Given the description of an element on the screen output the (x, y) to click on. 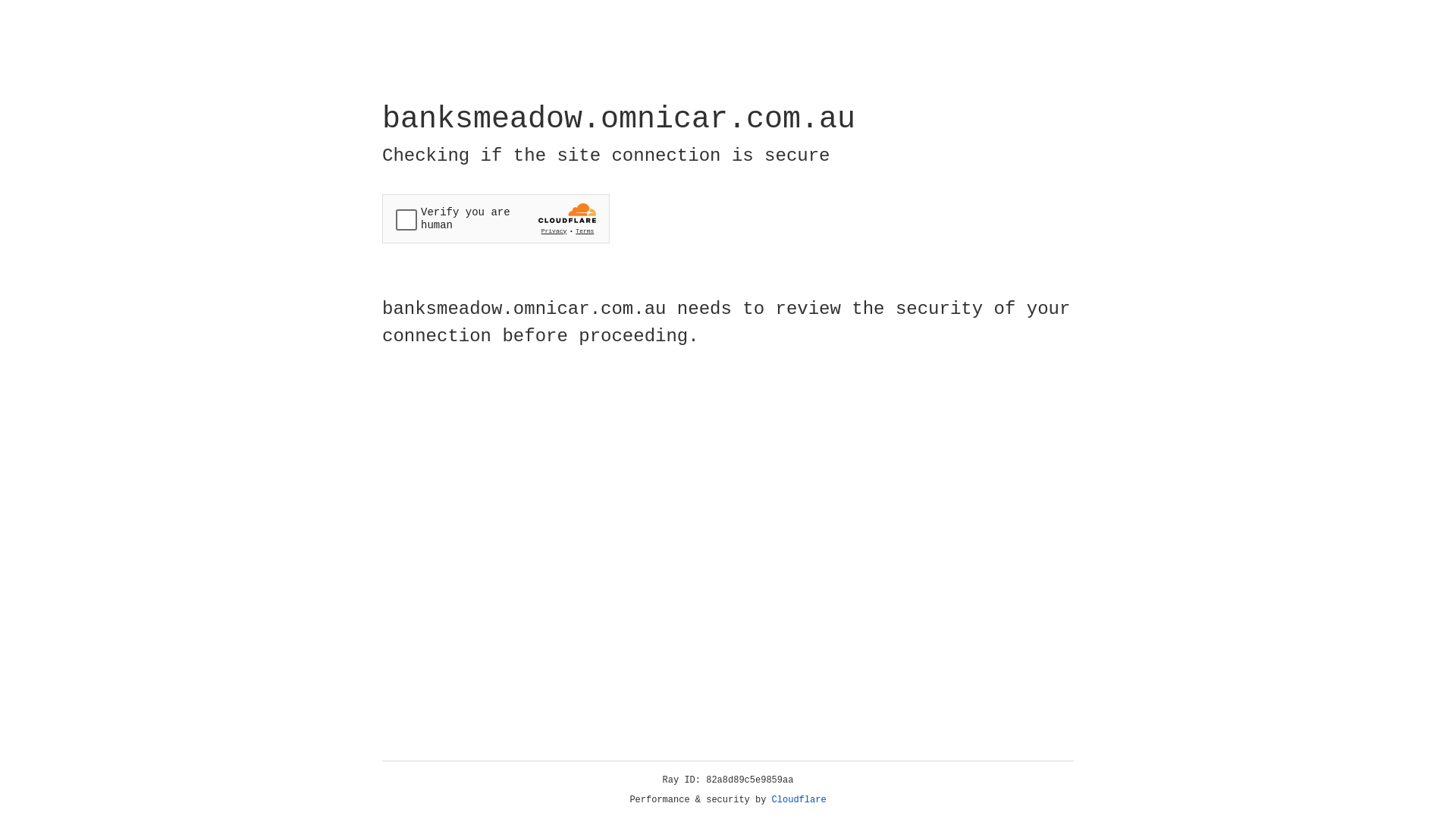
Cloudflare Element type: text (798, 799)
Widget containing a Cloudflare security challenge Element type: hover (495, 218)
